Given the description of an element on the screen output the (x, y) to click on. 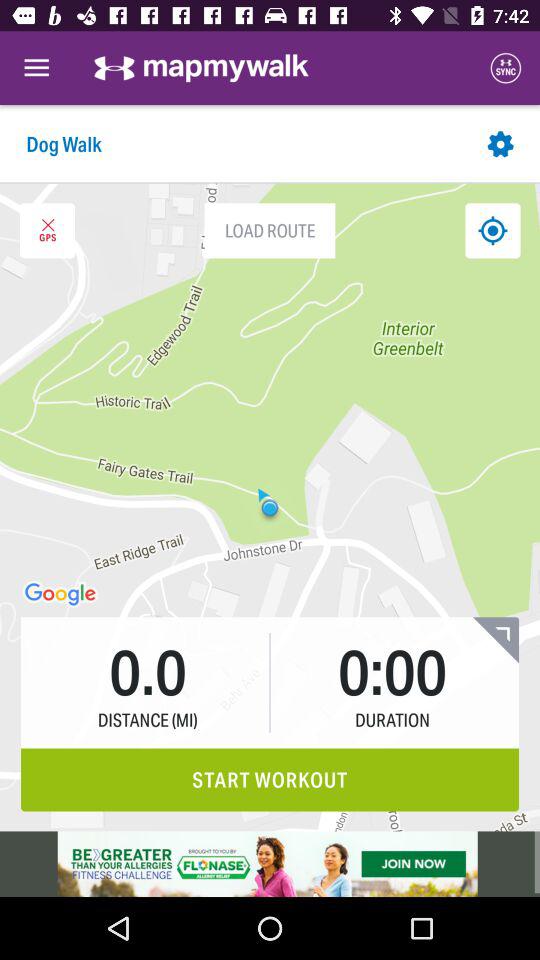
expand (495, 640)
